Given the description of an element on the screen output the (x, y) to click on. 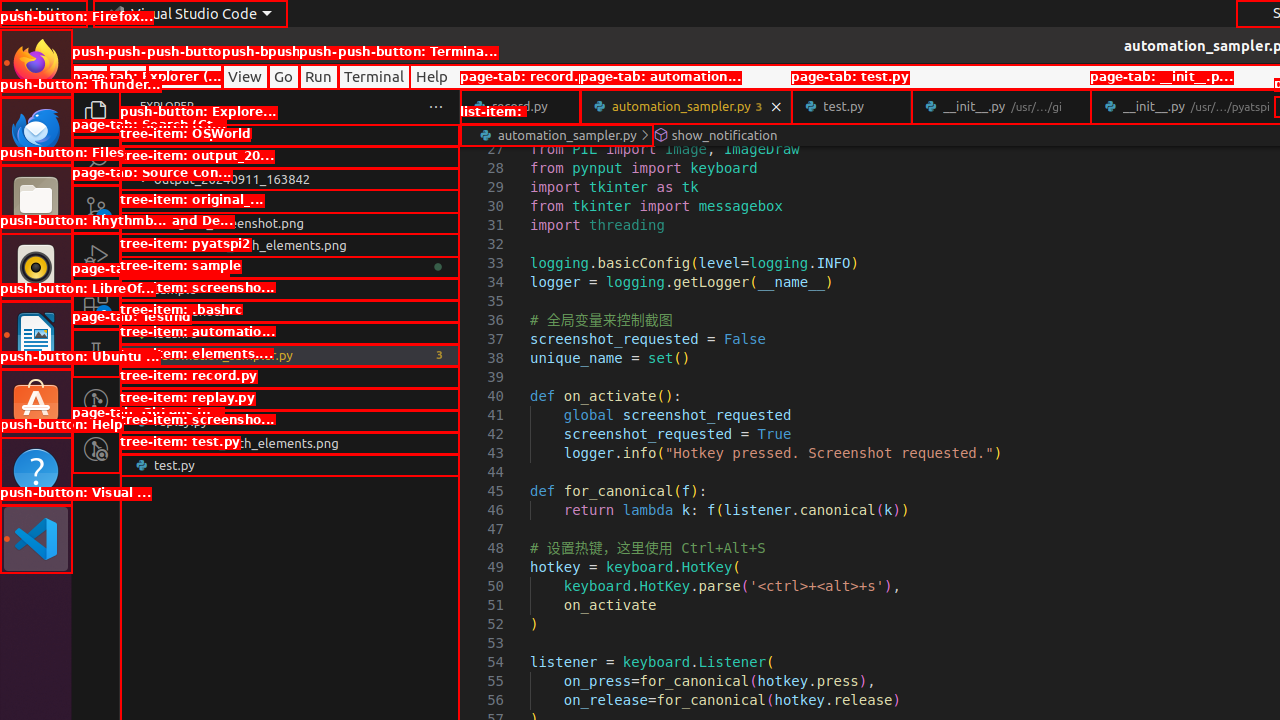
Extensions (Ctrl+Shift+X) - 2 require update Element type: page-tab (96, 305)
.bashrc Element type: tree-item (289, 333)
record.py Element type: page-tab (520, 106)
Edit Element type: push-button (127, 76)
Testing Element type: page-tab (96, 353)
